Given the description of an element on the screen output the (x, y) to click on. 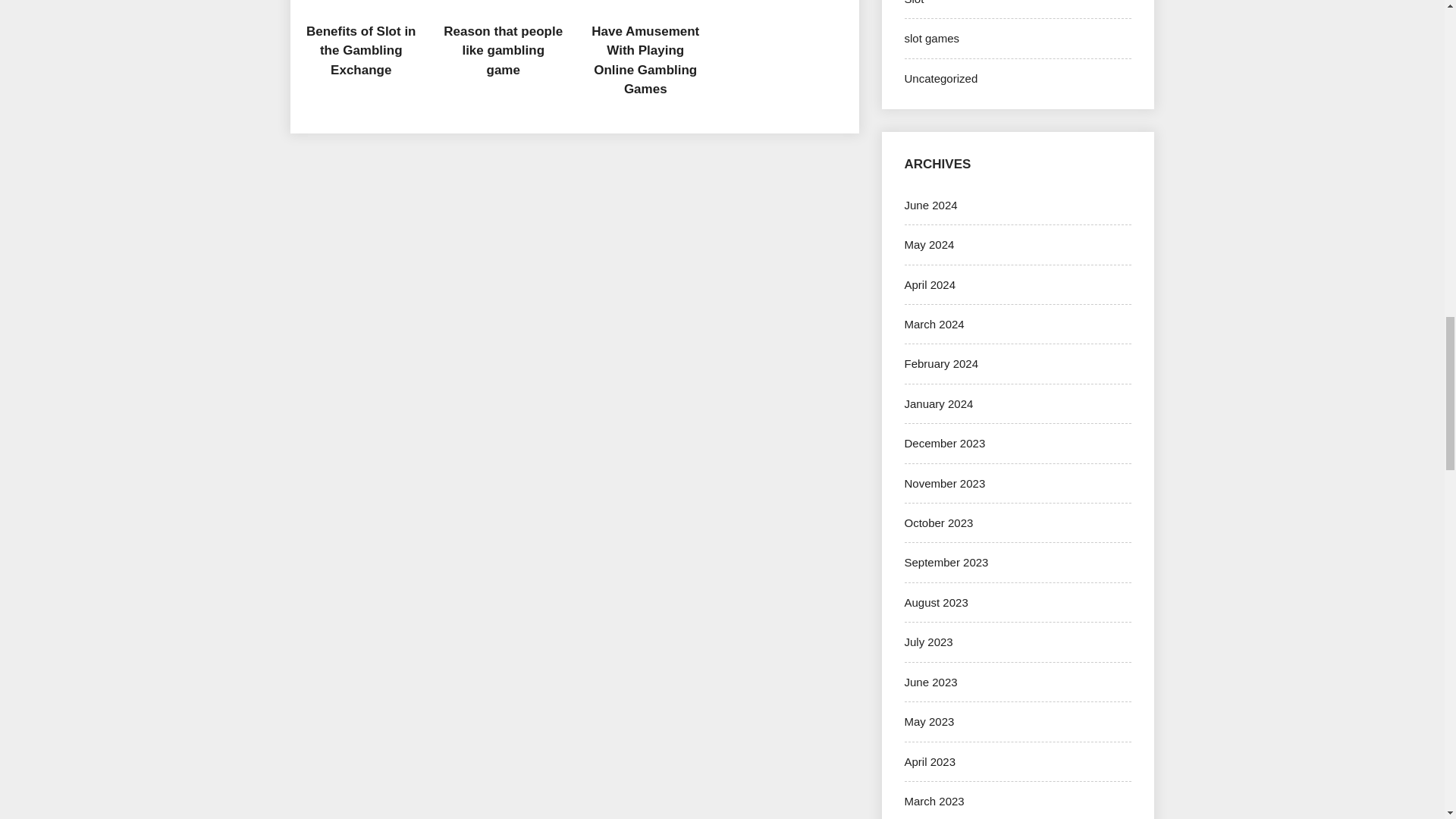
Have Amusement With Playing Online Gambling Games (644, 60)
Reason that people like gambling game (503, 50)
Slot (913, 2)
Benefits of Slot in the Gambling Exchange (360, 50)
